Given the description of an element on the screen output the (x, y) to click on. 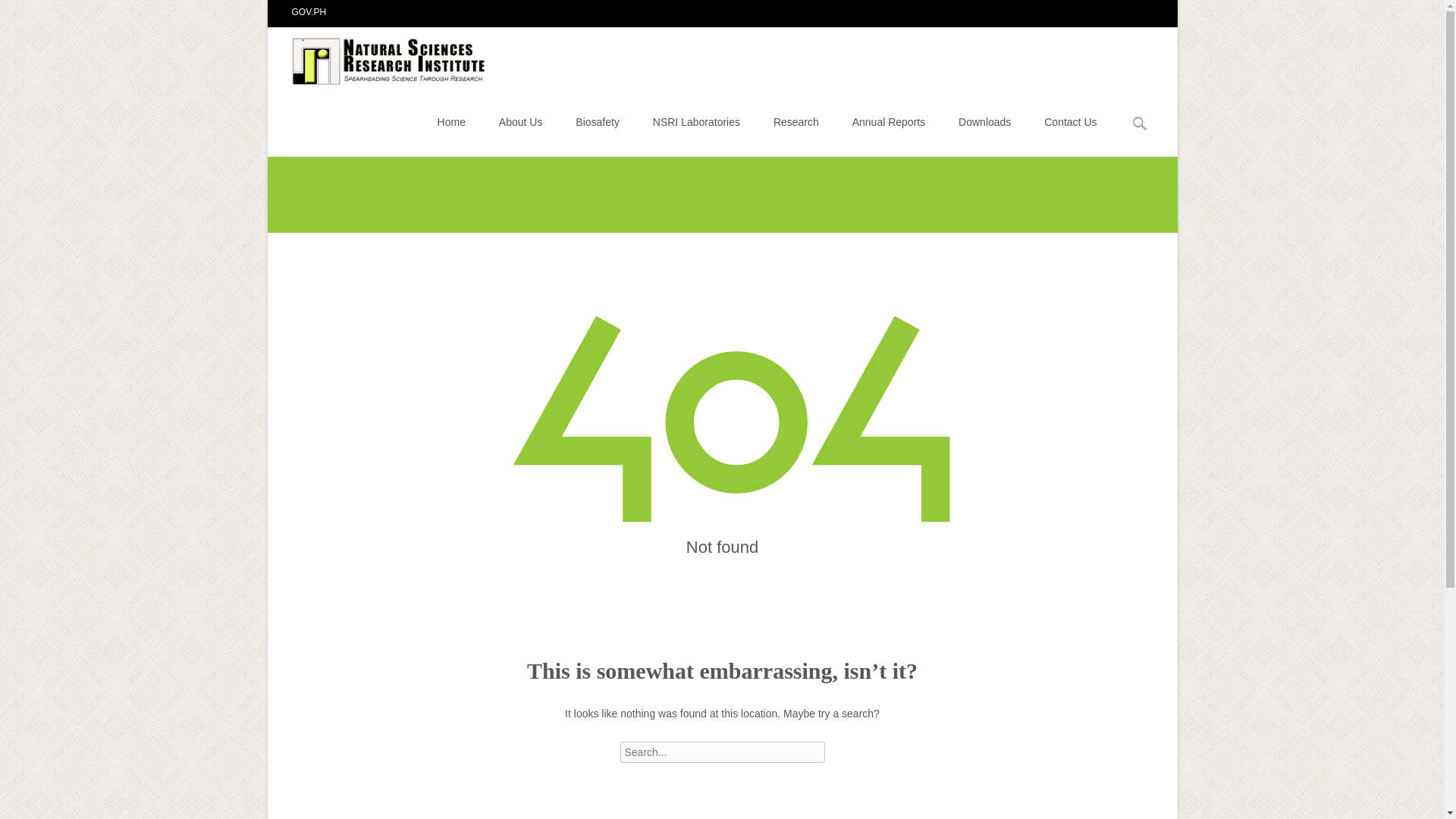
Natural Sciences Research Institute (378, 57)
Annual Reports (888, 121)
Search for: (722, 752)
Search (18, 14)
Search for: (1139, 123)
GOV.PH (308, 11)
NSRI Laboratories (695, 121)
Search (34, 14)
